Given the description of an element on the screen output the (x, y) to click on. 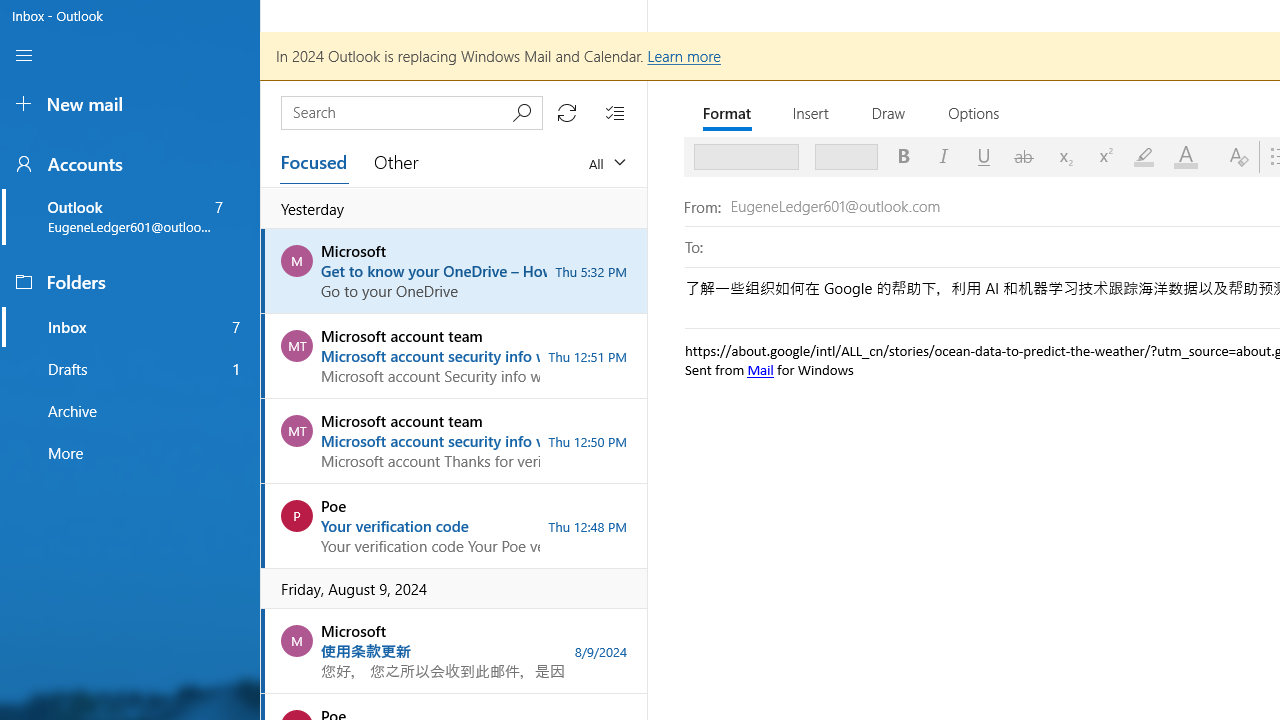
Insert (812, 112)
Font Size (846, 156)
Clear Formatting (1238, 156)
Drafts folder, 1 unread, favorite (129, 368)
Filter, All (606, 161)
Font (745, 156)
Sync this view (566, 112)
Other (397, 161)
From: (824, 206)
Format (728, 112)
